Given the description of an element on the screen output the (x, y) to click on. 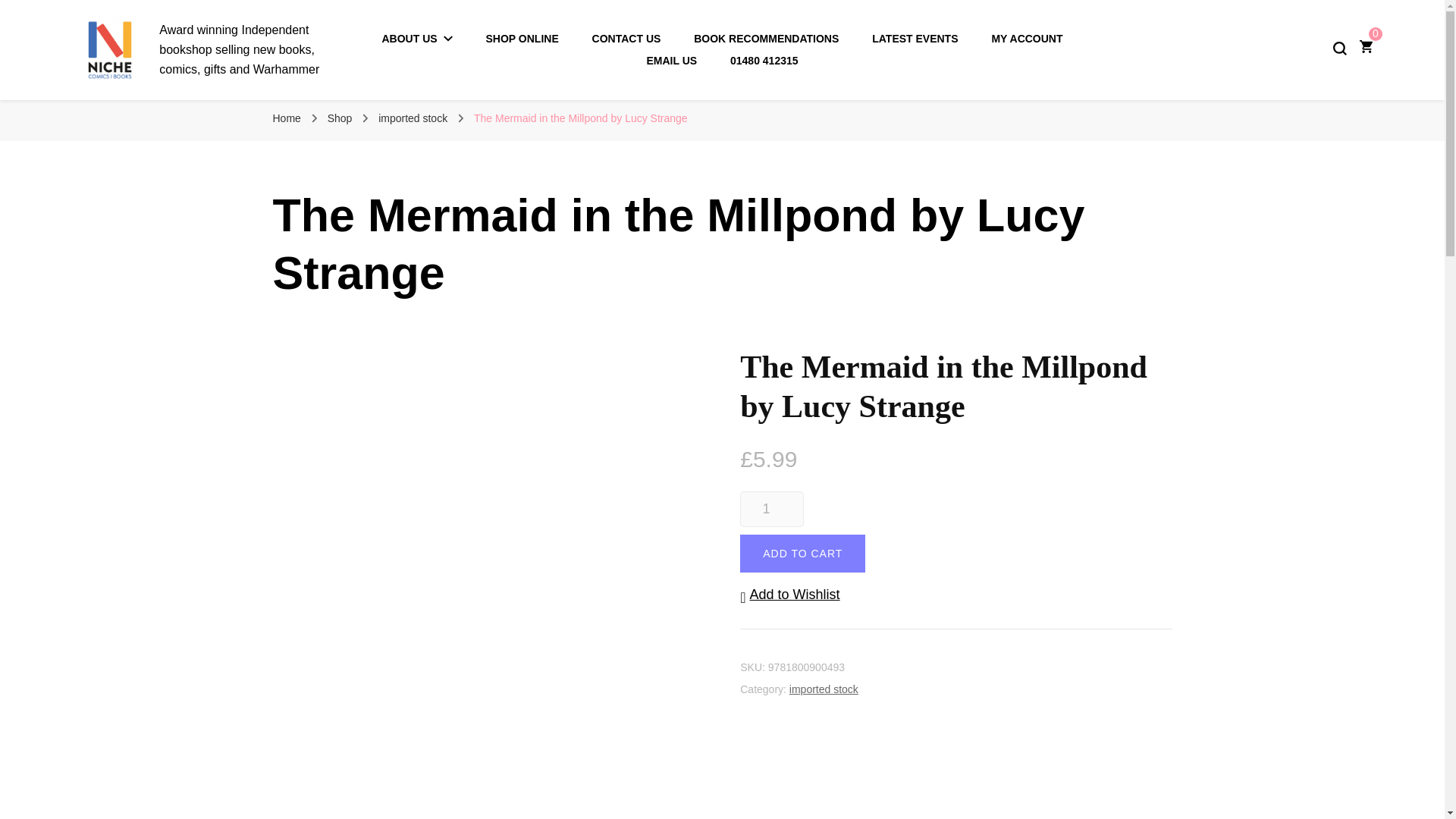
Shop (339, 118)
BOOK RECOMMENDATIONS (766, 38)
CONTACT US (626, 38)
EMAIL US (671, 60)
1 (771, 509)
LATEST EVENTS (915, 38)
SHOP ONLINE (522, 38)
Home (287, 118)
ABOUT US (416, 38)
01480 412315 (763, 60)
MY ACCOUNT (1026, 38)
